Given the description of an element on the screen output the (x, y) to click on. 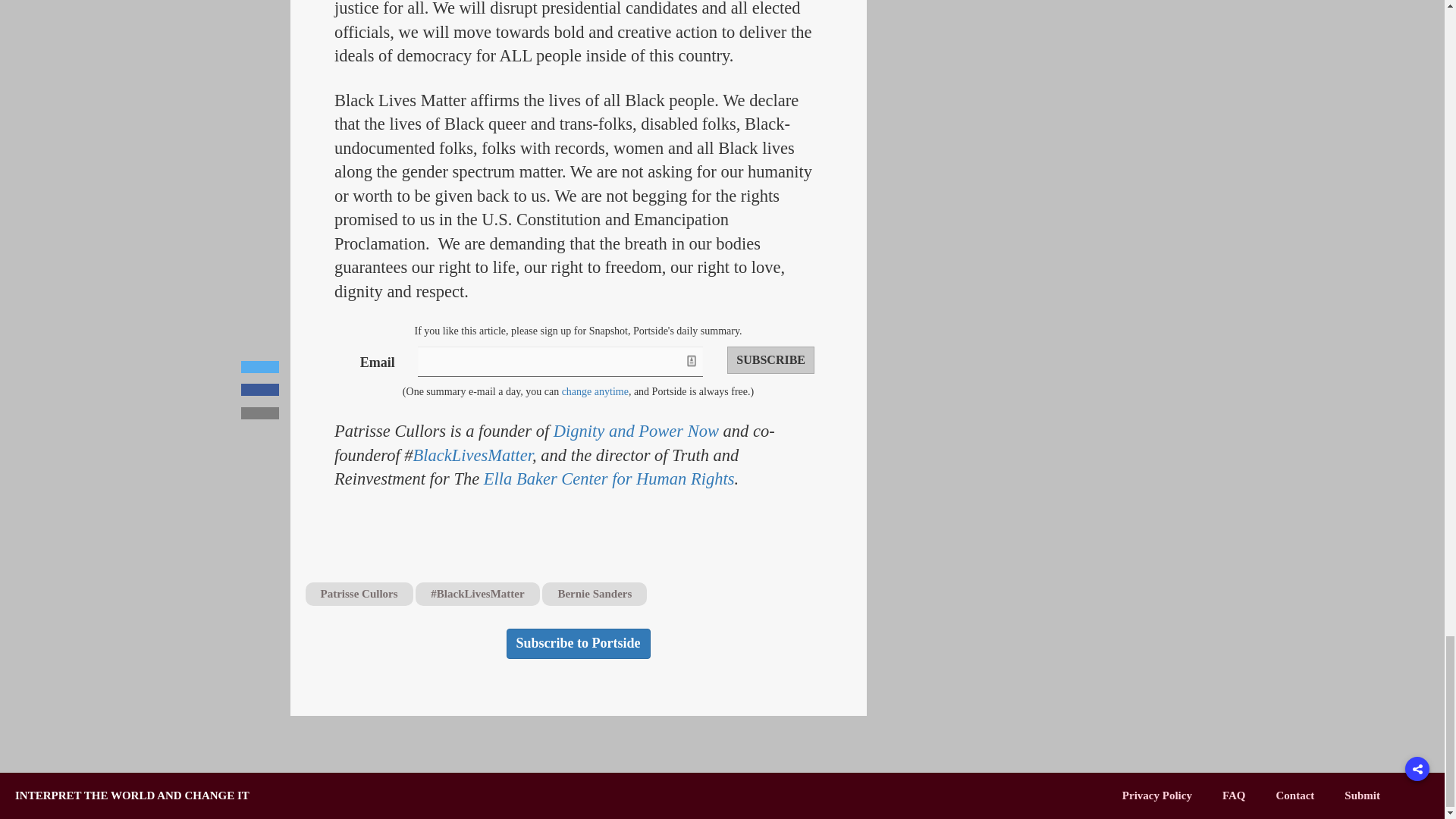
Bernie Sanders (593, 594)
Submit an article to Portside (1361, 795)
Subscribe to Portside (578, 643)
Subscribe (769, 359)
Patrisse Cullors (358, 594)
Subscribe (769, 359)
Dignity and Power Now (636, 430)
Ella Baker Center for Human Rights (609, 478)
Frequently Asked Questions (1234, 795)
BlackLivesMatter (472, 455)
change anytime (595, 391)
